Given the description of an element on the screen output the (x, y) to click on. 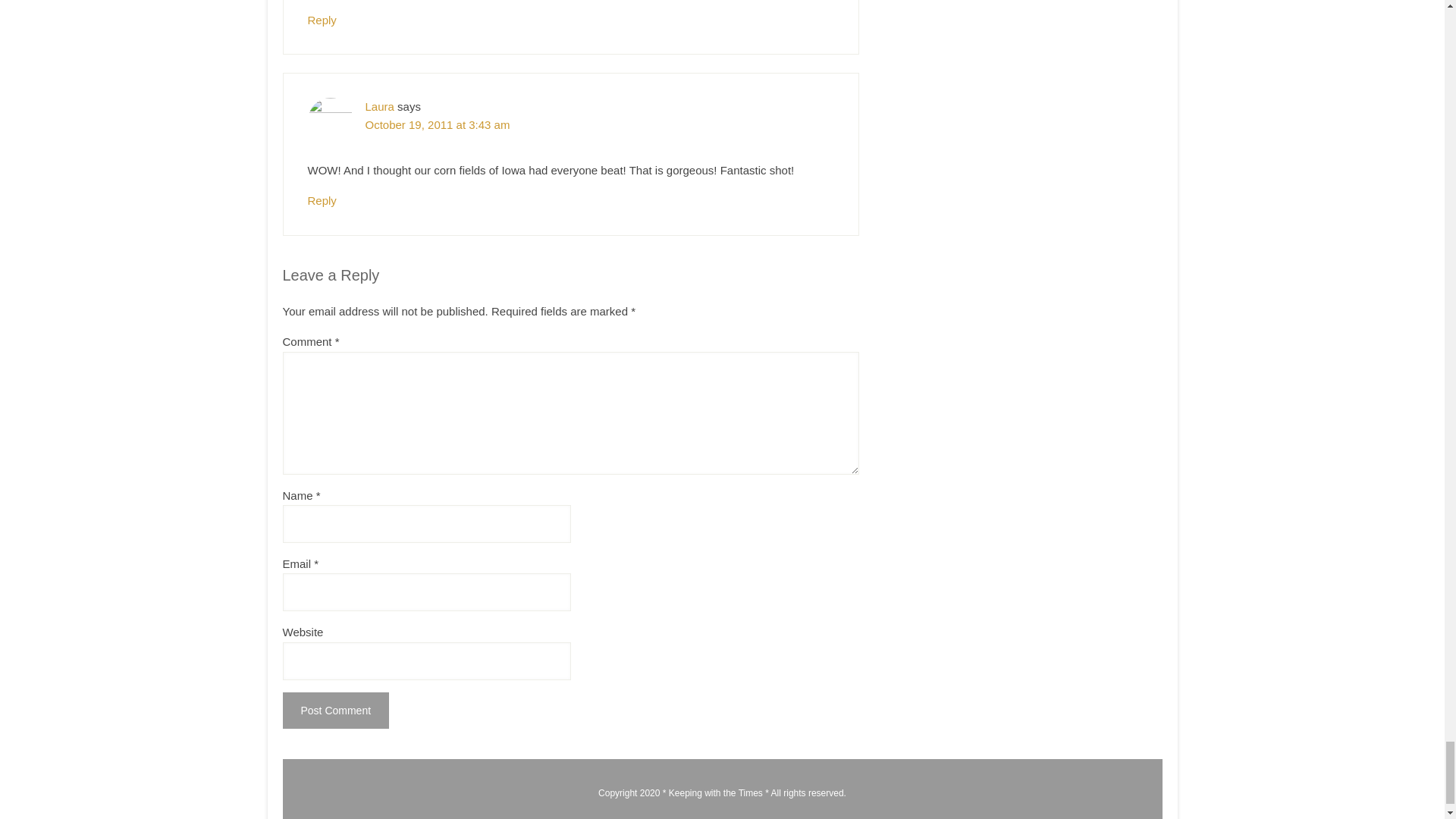
Post Comment (335, 710)
